Given the description of an element on the screen output the (x, y) to click on. 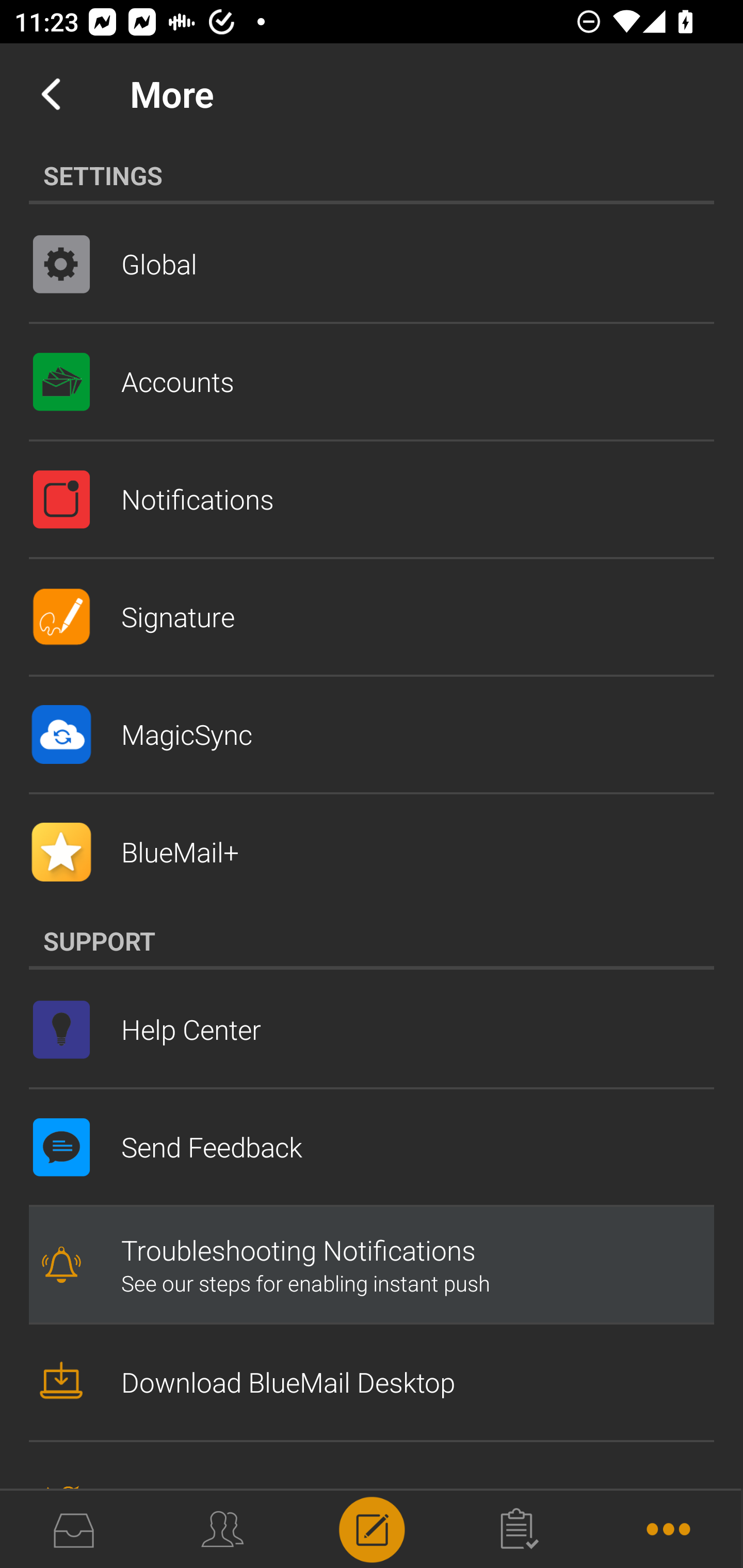
Navigate up (50, 93)
Global (371, 263)
Accounts (371, 381)
Notifications (371, 499)
Signature (371, 616)
MagicSync (371, 734)
BlueMail+ (371, 851)
Help Center (371, 1029)
Send Feedback (371, 1146)
Download BlueMail Desktop (371, 1381)
